Given the description of an element on the screen output the (x, y) to click on. 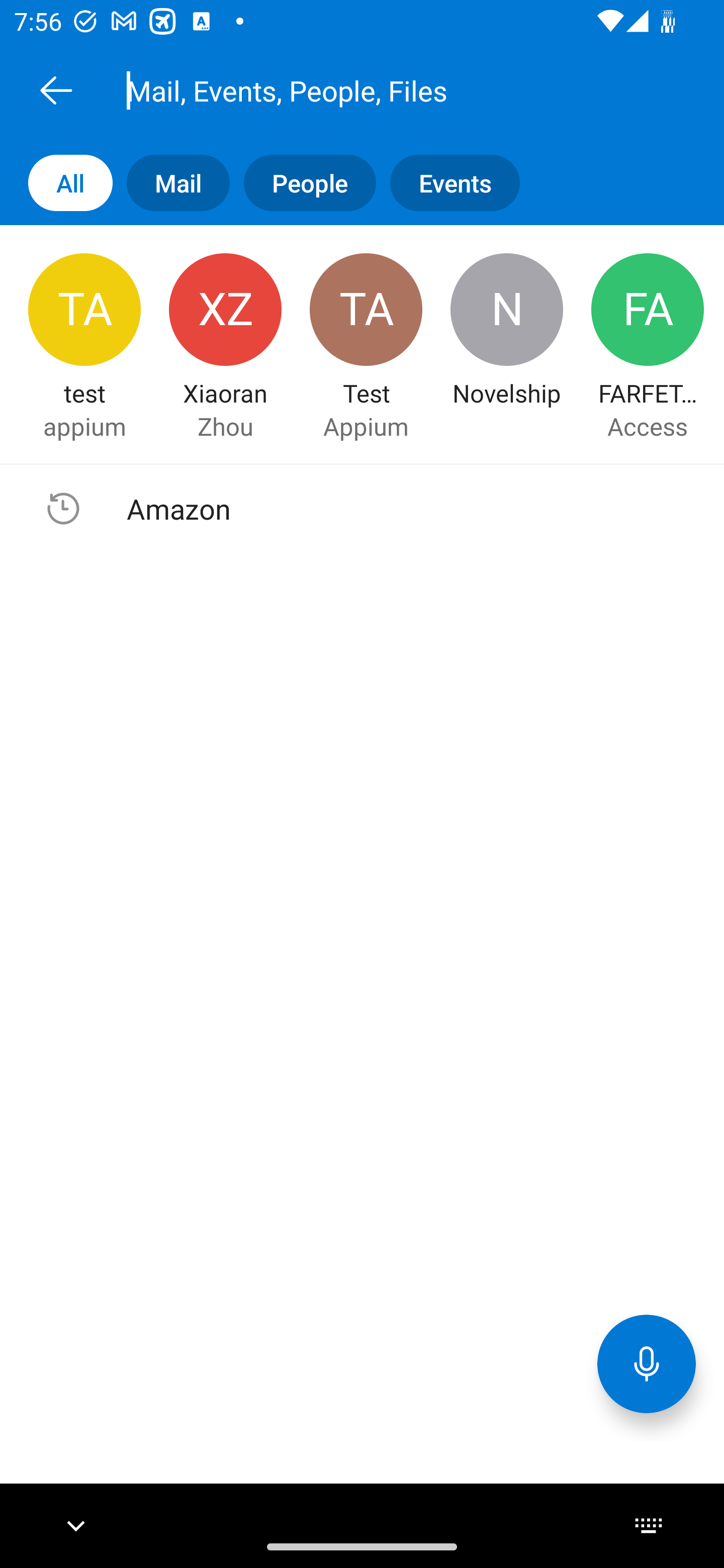
Back (55, 89)
Mail, Events, People, Files (384, 89)
Mail (170, 183)
People (302, 183)
Events (447, 183)
Suggested search , Text, Amazon Amazon (362, 508)
Voice Assistant (646, 1362)
